Given the description of an element on the screen output the (x, y) to click on. 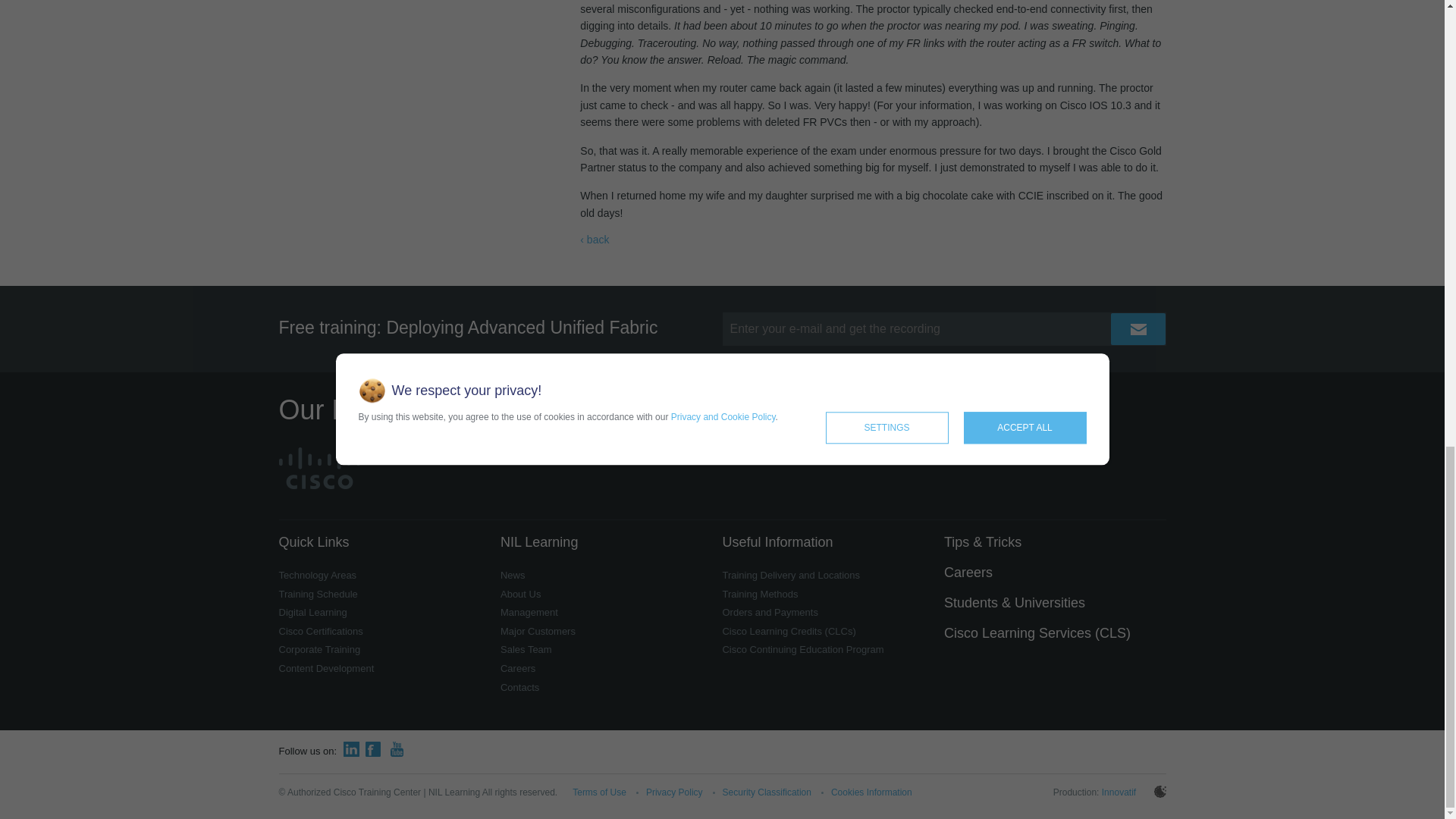
Careers (517, 668)
Cisco Certifications (320, 631)
About Us (520, 593)
Contacts (519, 686)
Management (528, 612)
Training Delivery and Locations (791, 574)
Major Customers (537, 631)
News (512, 574)
Digital Learning (313, 612)
Training Schedule (318, 593)
Content Development (326, 668)
Sales Team (525, 649)
Technology Areas (317, 574)
Corporate Training (320, 649)
Cisco (319, 467)
